Given the description of an element on the screen output the (x, y) to click on. 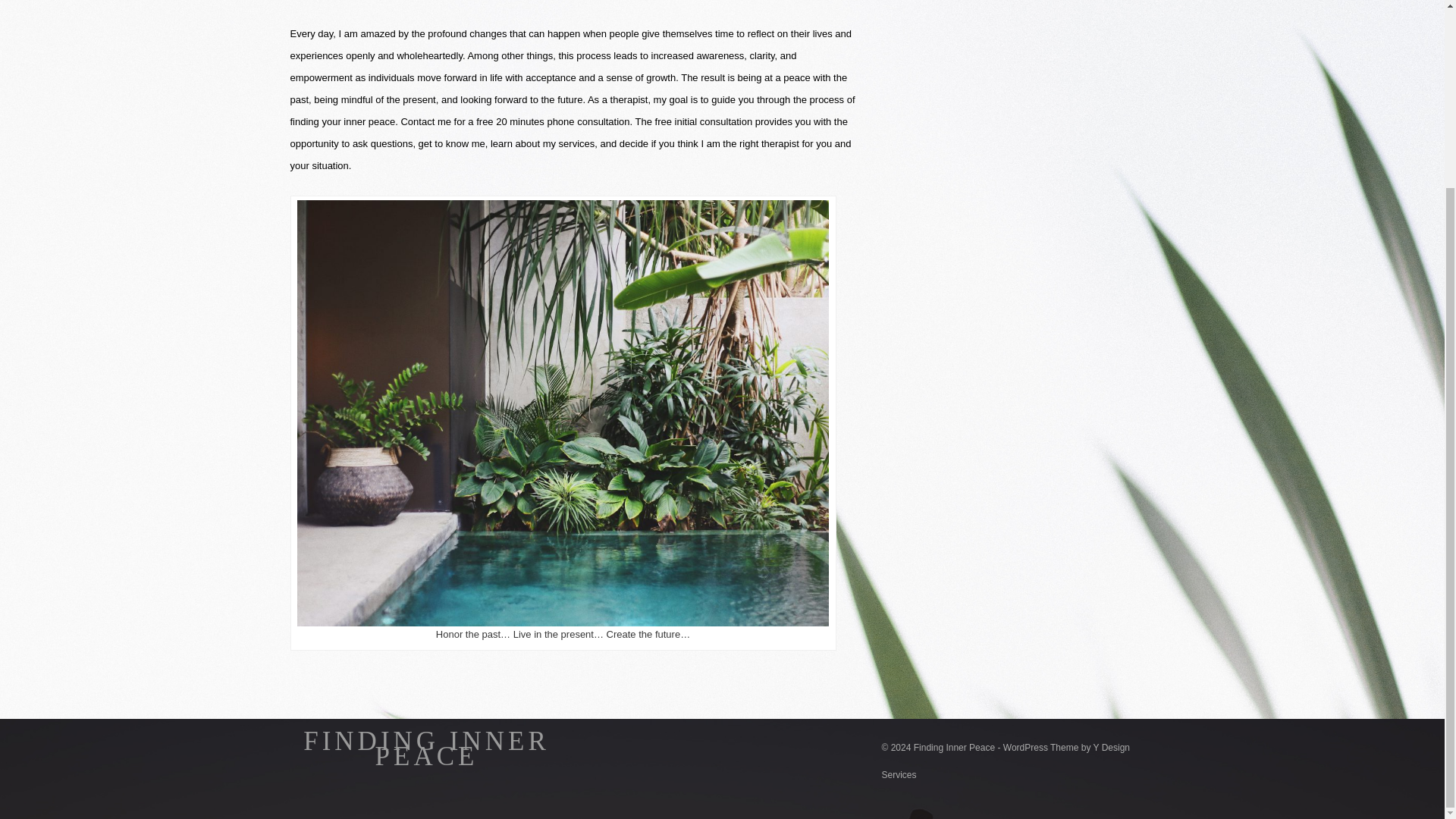
Y Design Services (1005, 761)
FINDING INNER PEACE (425, 748)
